Given the description of an element on the screen output the (x, y) to click on. 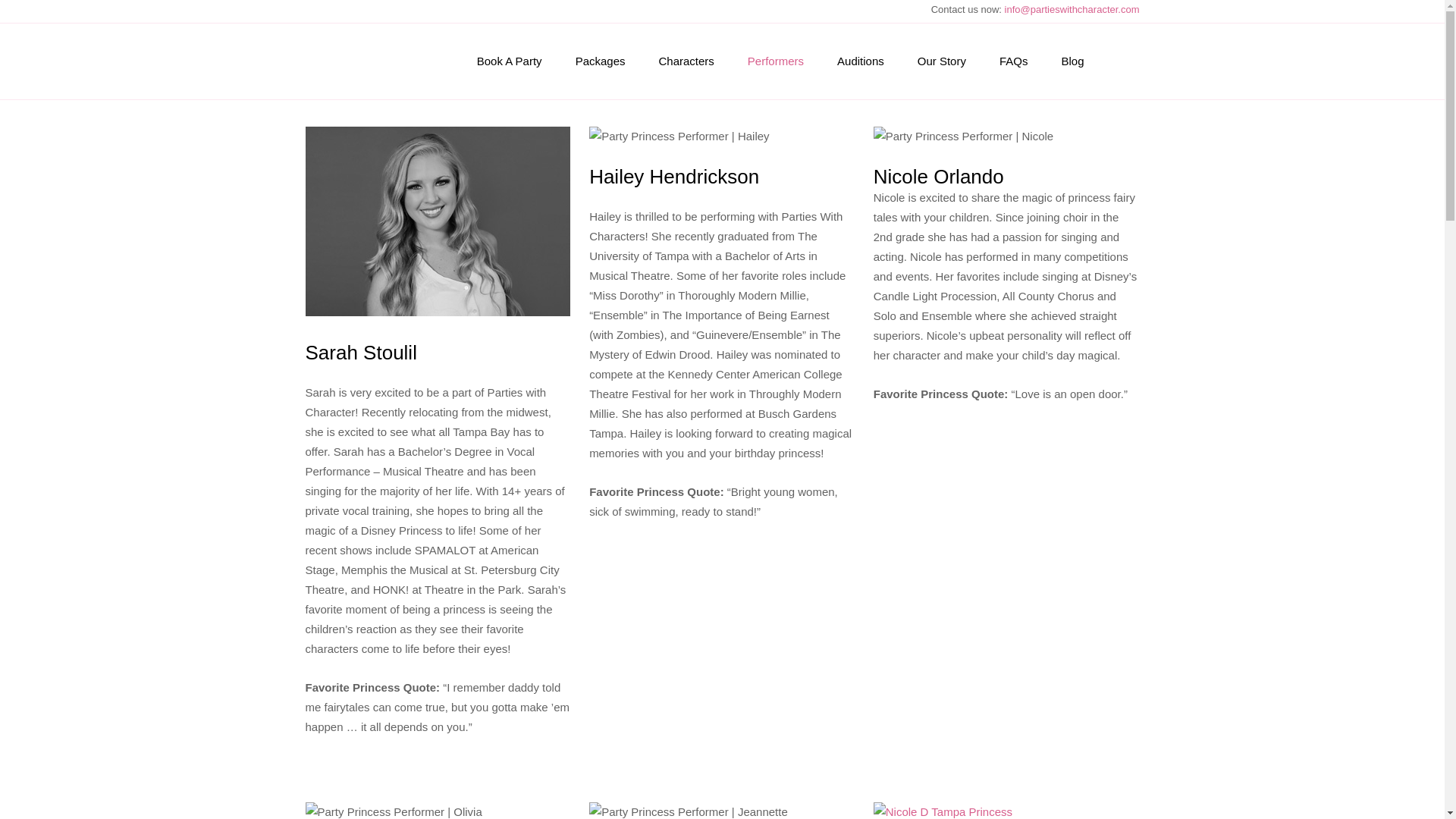
Packages (600, 61)
email us (1072, 9)
Book A Party (509, 61)
Performers (775, 61)
facebook (315, 11)
Characters (686, 61)
pinterest (344, 11)
instagram (373, 11)
Our Story (941, 61)
Auditions (861, 61)
